Given the description of an element on the screen output the (x, y) to click on. 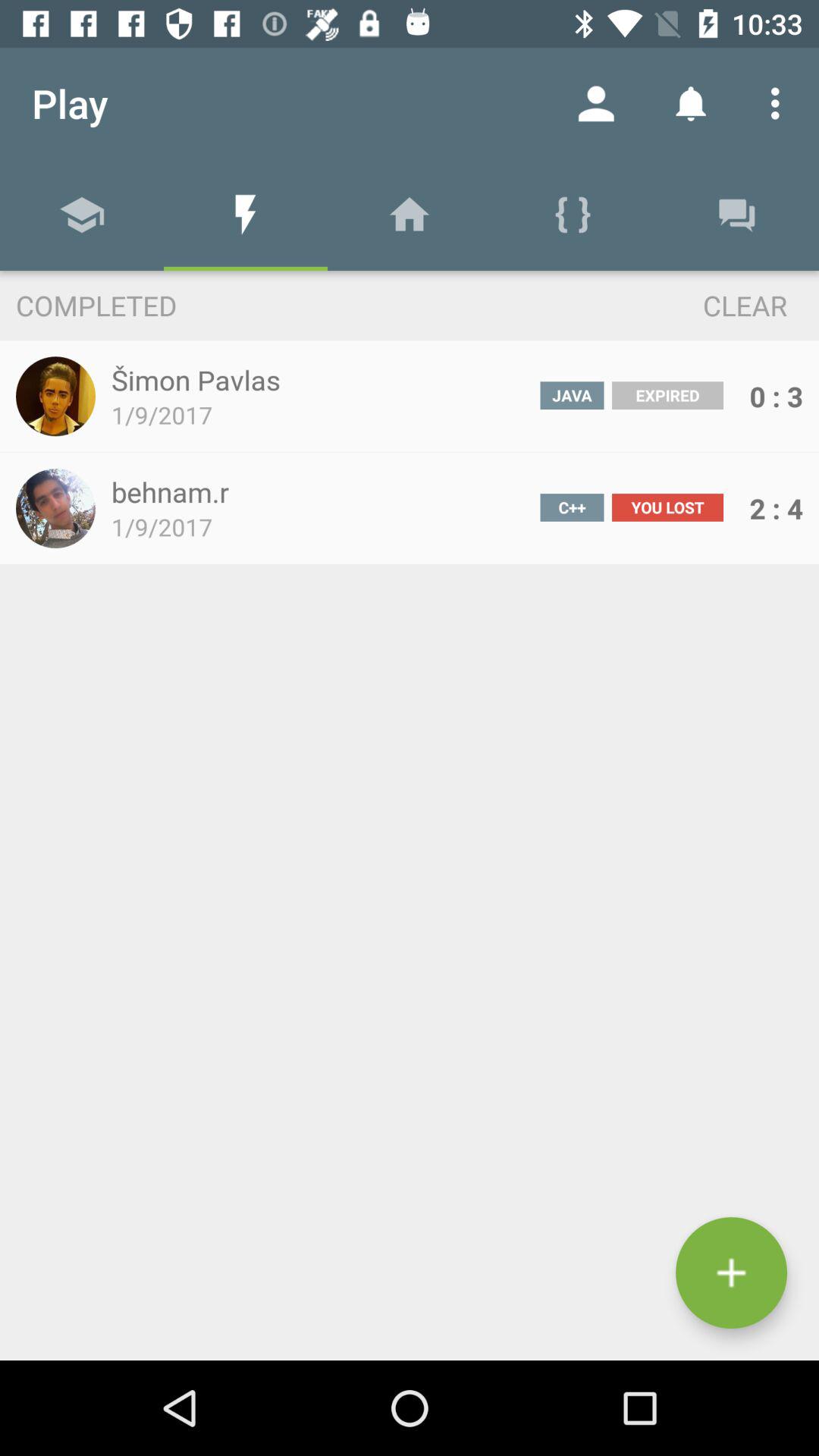
launch item next to the completed item (717, 305)
